Given the description of an element on the screen output the (x, y) to click on. 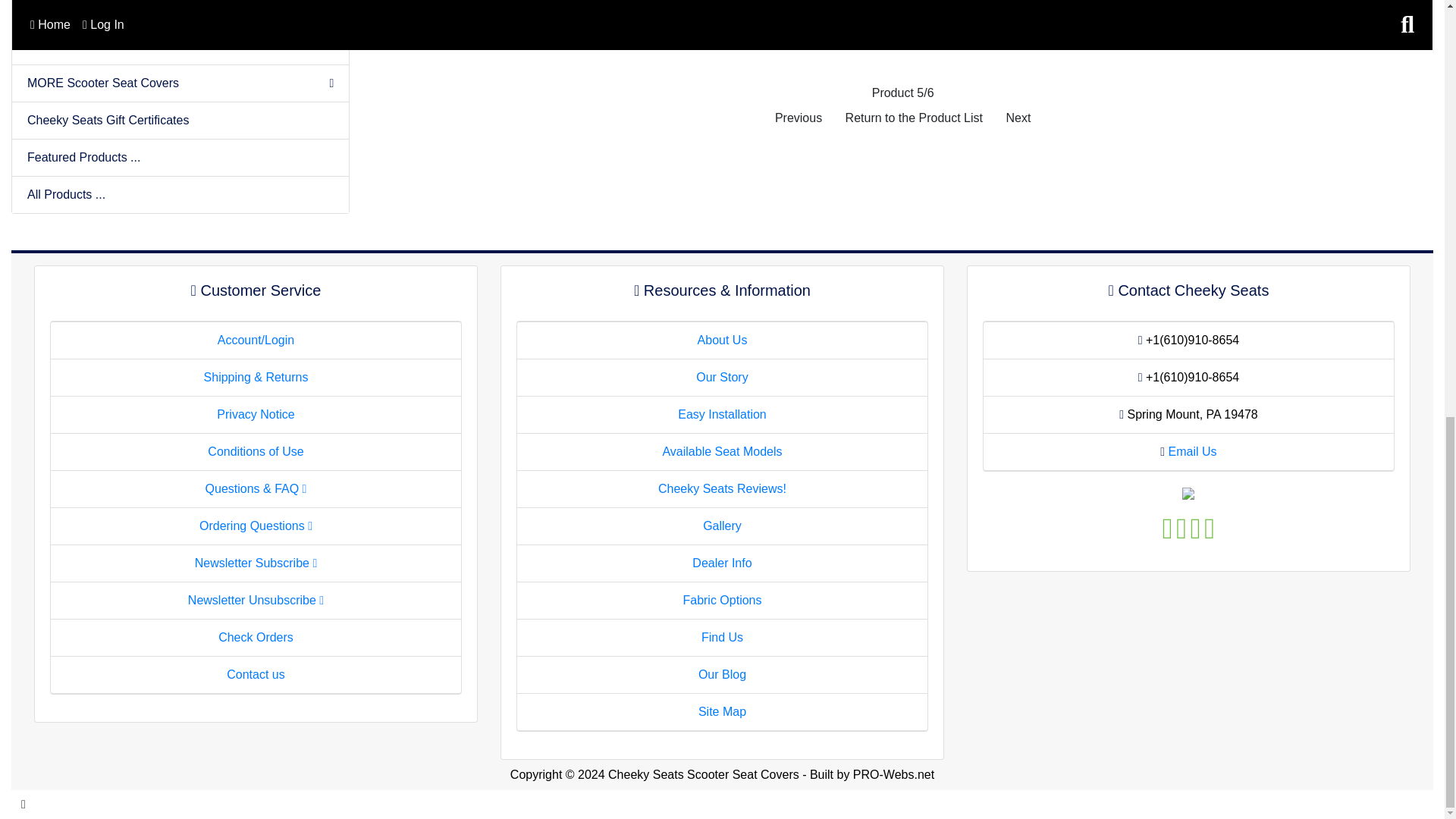
Conditions of Use (255, 451)
Contact us (255, 674)
Newsletter Subscribe (256, 562)
Newsletter Unsubscribe (255, 599)
Ordering Questions (256, 525)
Privacy Notice (255, 413)
FAQ (256, 488)
Gallery (722, 525)
Easy Installation (722, 413)
About Us (722, 339)
Check Orders (256, 636)
Our Story (721, 377)
Available Seat Models (721, 451)
Cheeky Seats Reviews! (722, 488)
